Given the description of an element on the screen output the (x, y) to click on. 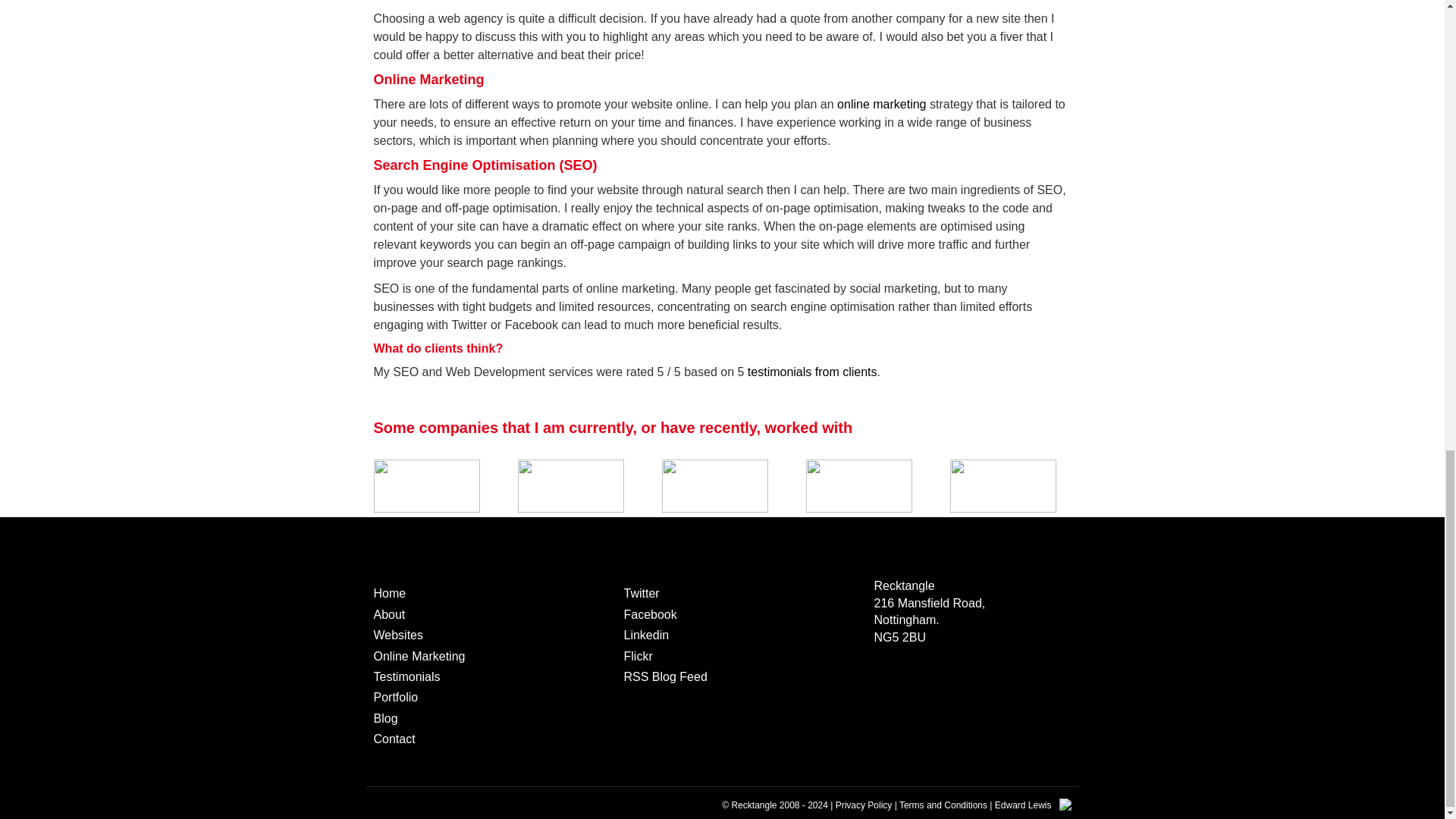
Privacy Policy (863, 805)
Twitter (641, 593)
About (388, 614)
RSS Blog Feed (664, 676)
Terms and Conditions (943, 805)
Blog (384, 717)
Portfolio (394, 697)
Online Marketing (418, 656)
Flickr (637, 656)
testimonials from clients (812, 371)
Edward Lewis (1022, 805)
Facebook (650, 614)
Websites (397, 634)
Contact (393, 738)
Testimonials (405, 676)
